Given the description of an element on the screen output the (x, y) to click on. 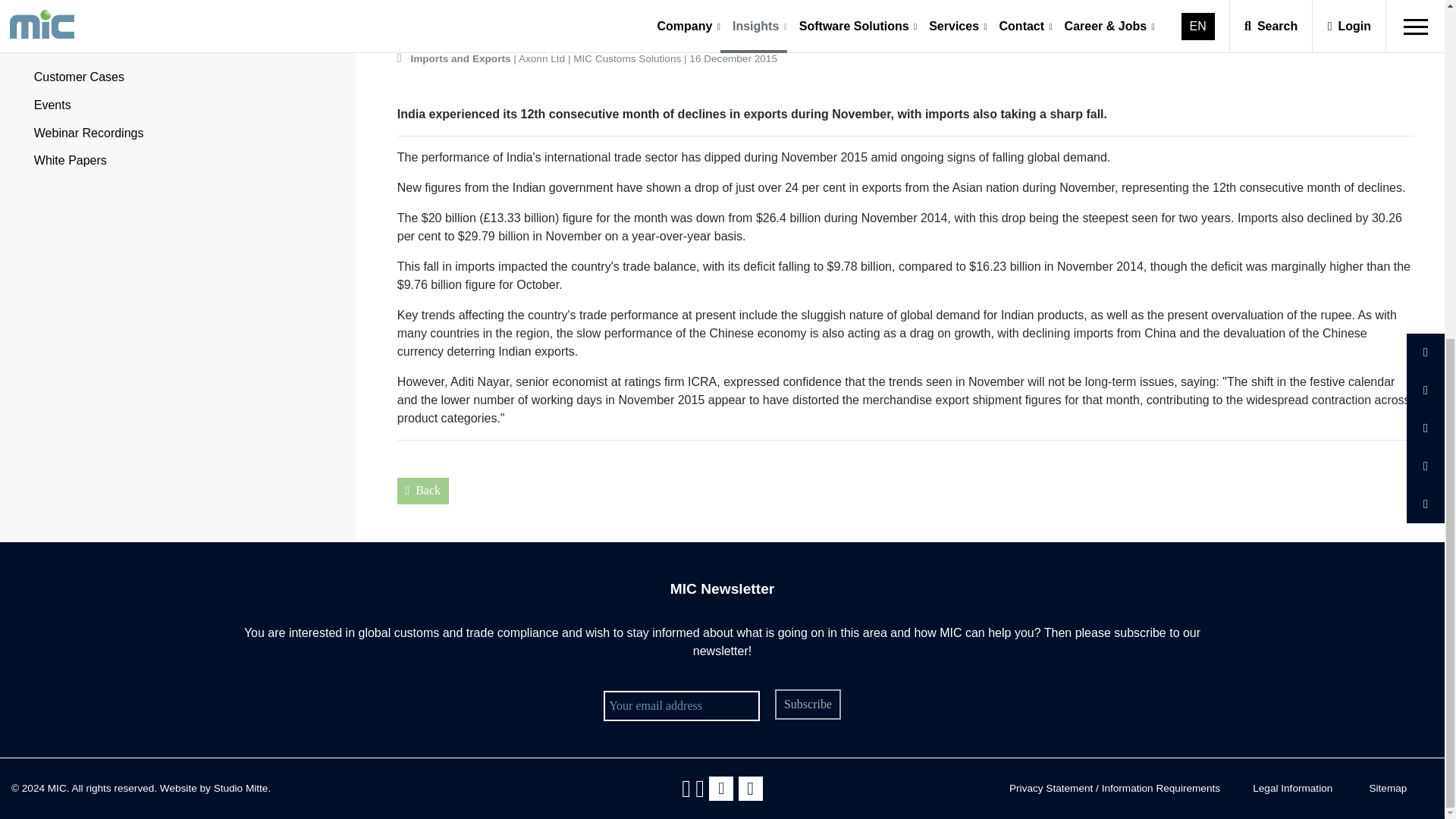
Subscribe (807, 704)
